Given the description of an element on the screen output the (x, y) to click on. 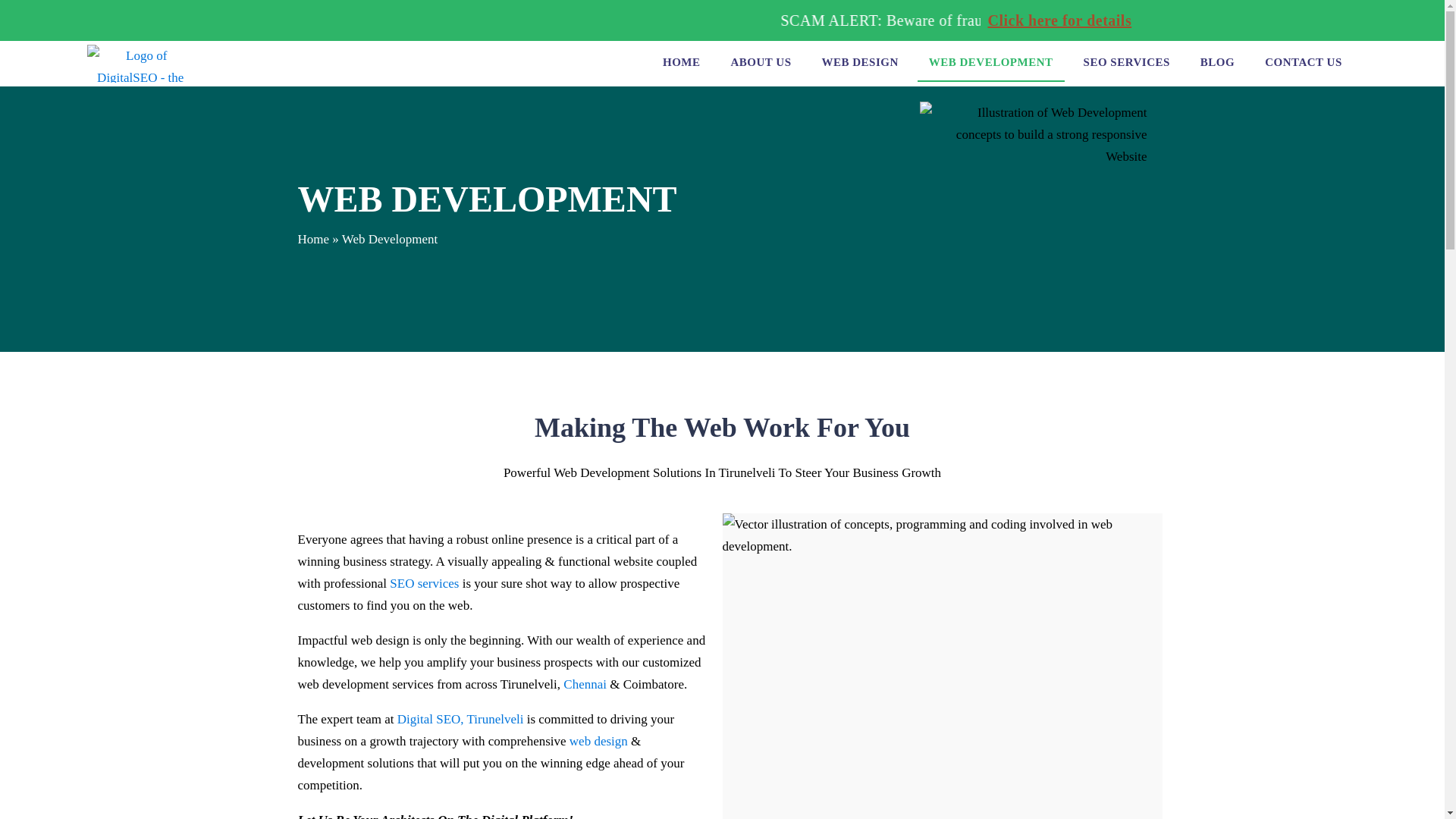
Home (313, 238)
WEB DEVELOPMENT (990, 63)
web design (598, 740)
SEO SERVICES (1125, 63)
HOME (680, 63)
BLOG (1217, 63)
Chennai (585, 684)
SEO services (424, 583)
Digital SEO, Tirunelveli (460, 718)
WEB DESIGN (858, 63)
